Given the description of an element on the screen output the (x, y) to click on. 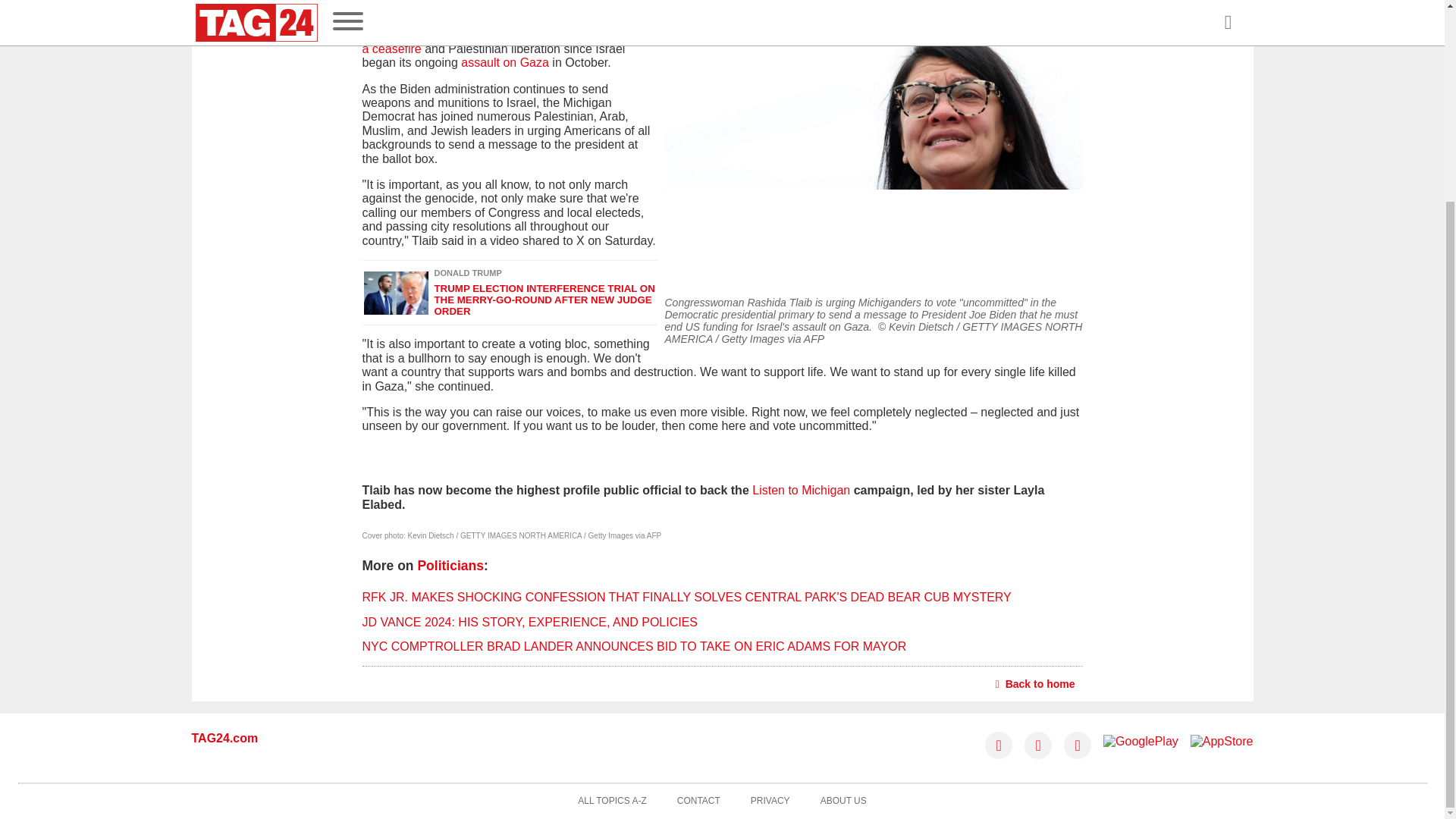
ABOUT US (843, 801)
Back to home (1035, 683)
PRIVACY (770, 801)
JD VANCE 2024: HIS STORY, EXPERIENCE, AND POLICIES (530, 621)
Listen to Michigan (801, 490)
Politicians (449, 565)
CONTACT (698, 801)
demanding a ceasefire (507, 41)
ALL TOPICS A-Z (612, 801)
assault on Gaza (504, 62)
